Given the description of an element on the screen output the (x, y) to click on. 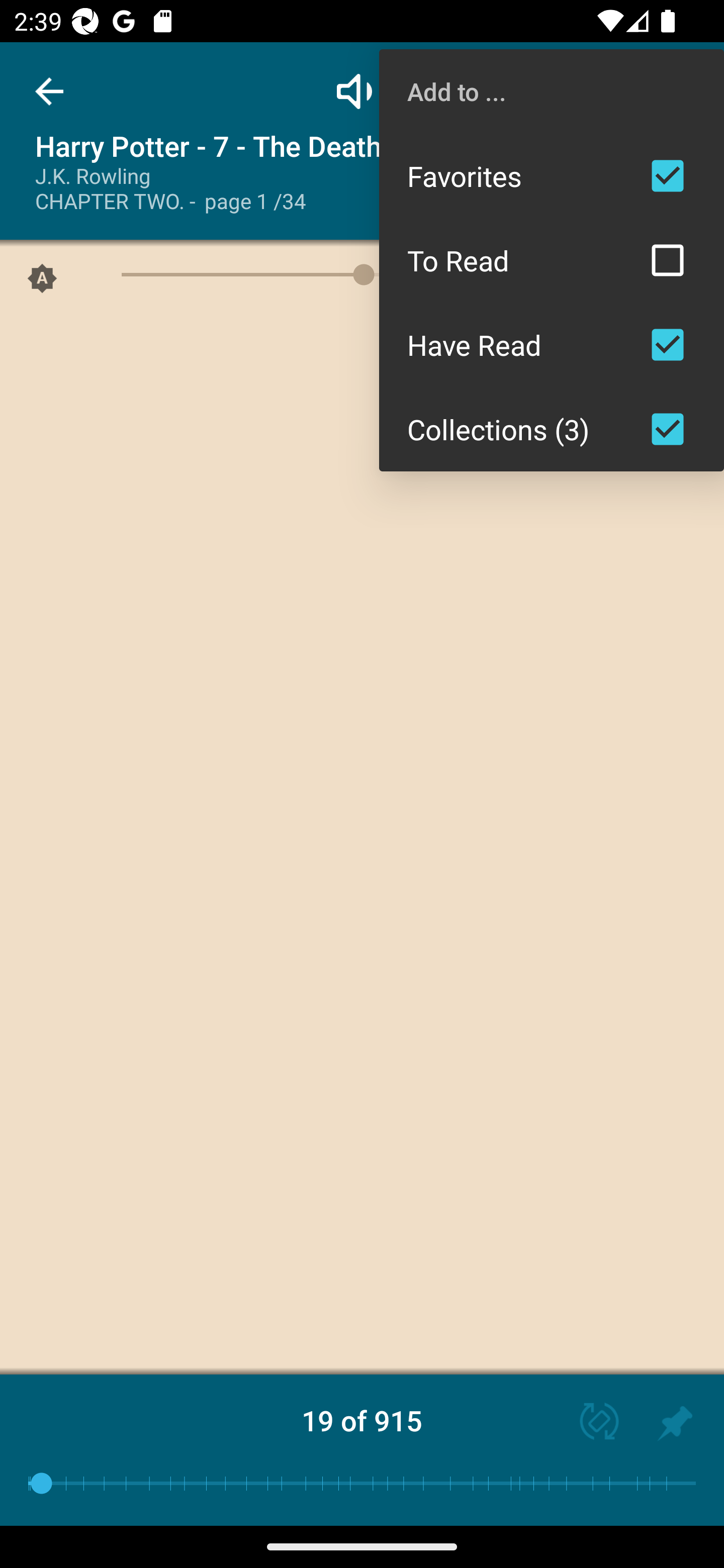
Favorites (551, 175)
To Read (551, 259)
Have Read (551, 344)
Collections (3) (551, 429)
